Given the description of an element on the screen output the (x, y) to click on. 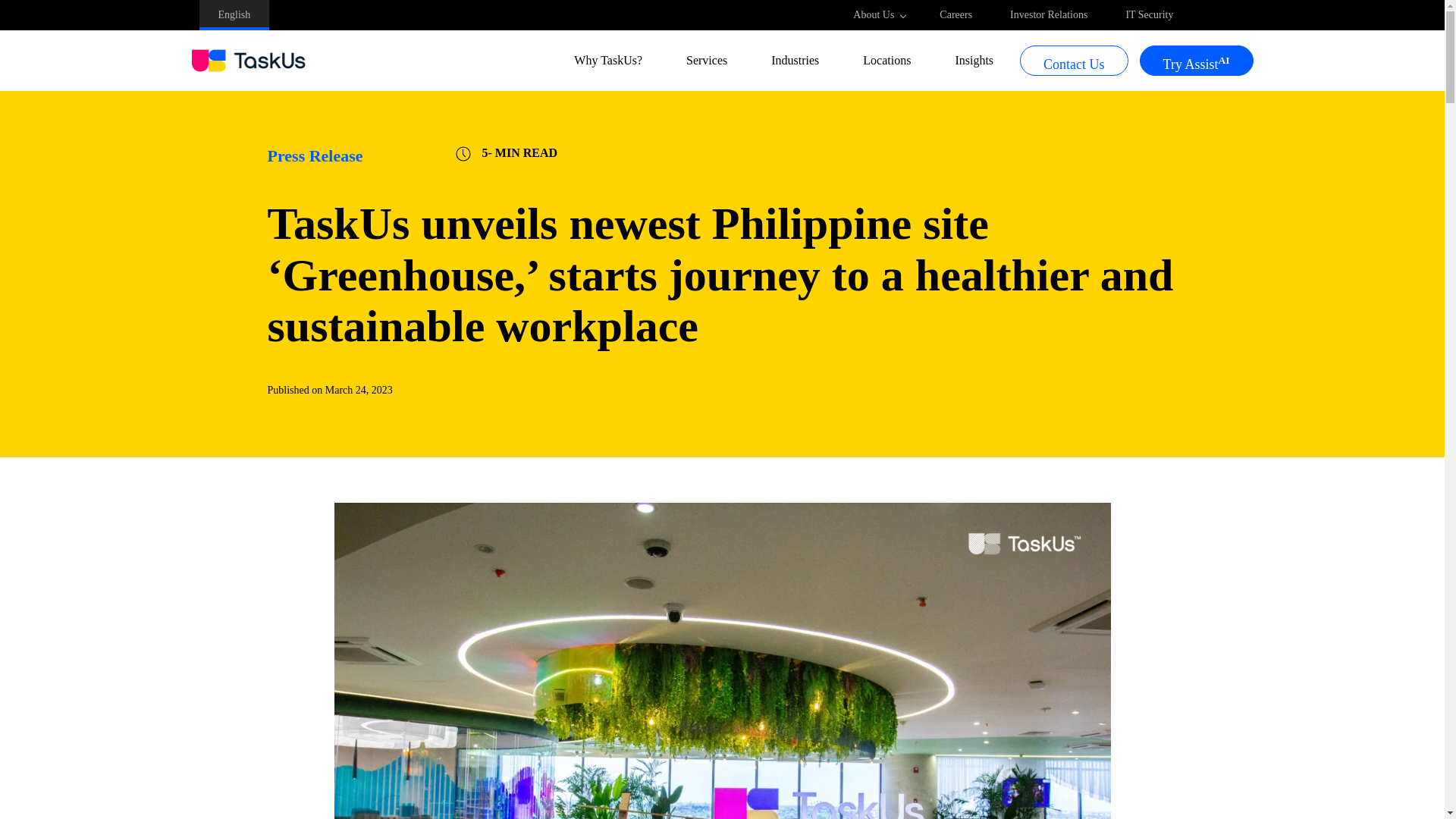
About Us (877, 15)
English (233, 15)
Why TaskUs? (615, 60)
Careers (955, 15)
IT Security (1149, 15)
Investor Relations (1048, 15)
Services (713, 60)
